Given the description of an element on the screen output the (x, y) to click on. 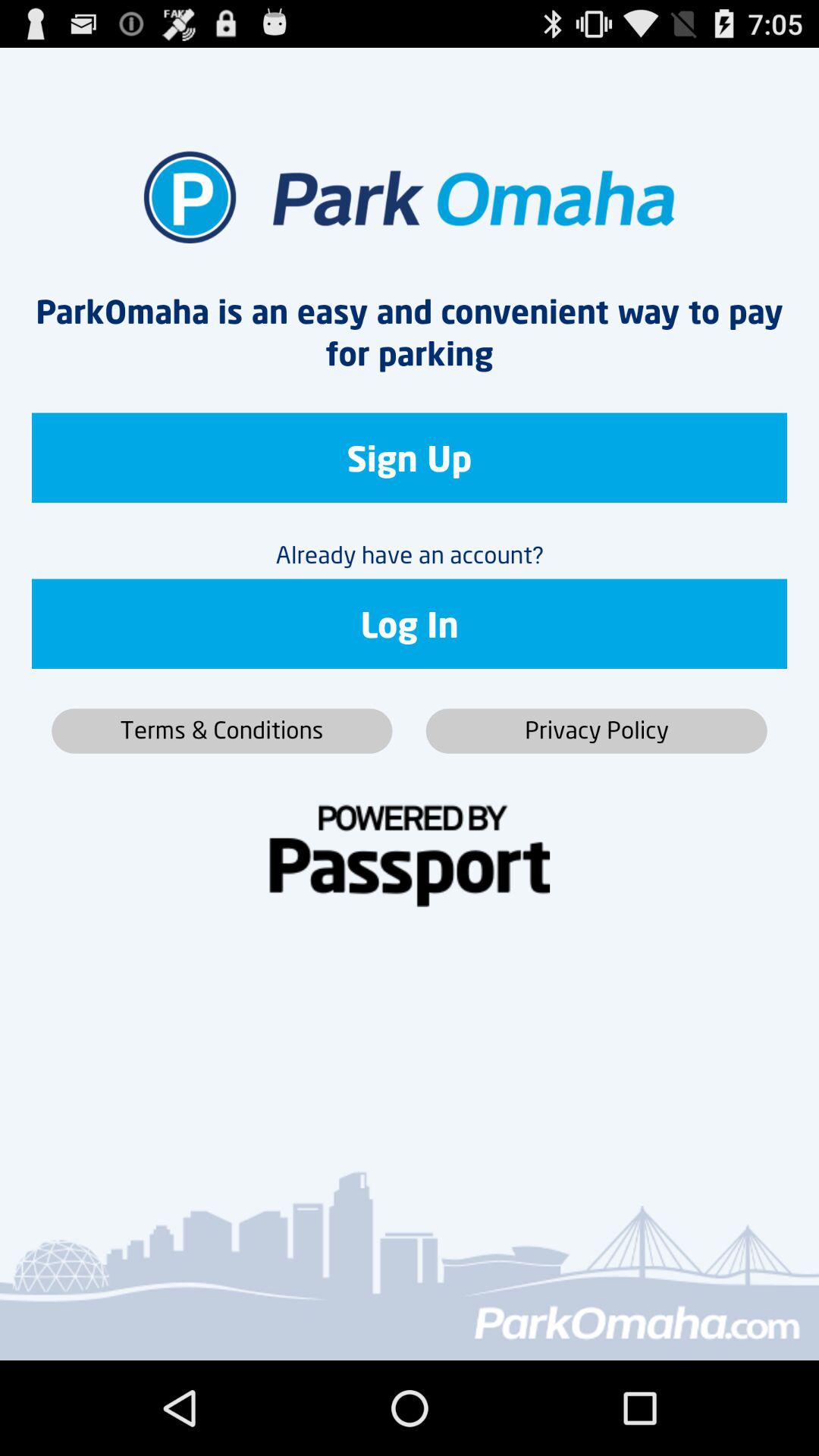
tap privacy policy on the right (596, 730)
